Given the description of an element on the screen output the (x, y) to click on. 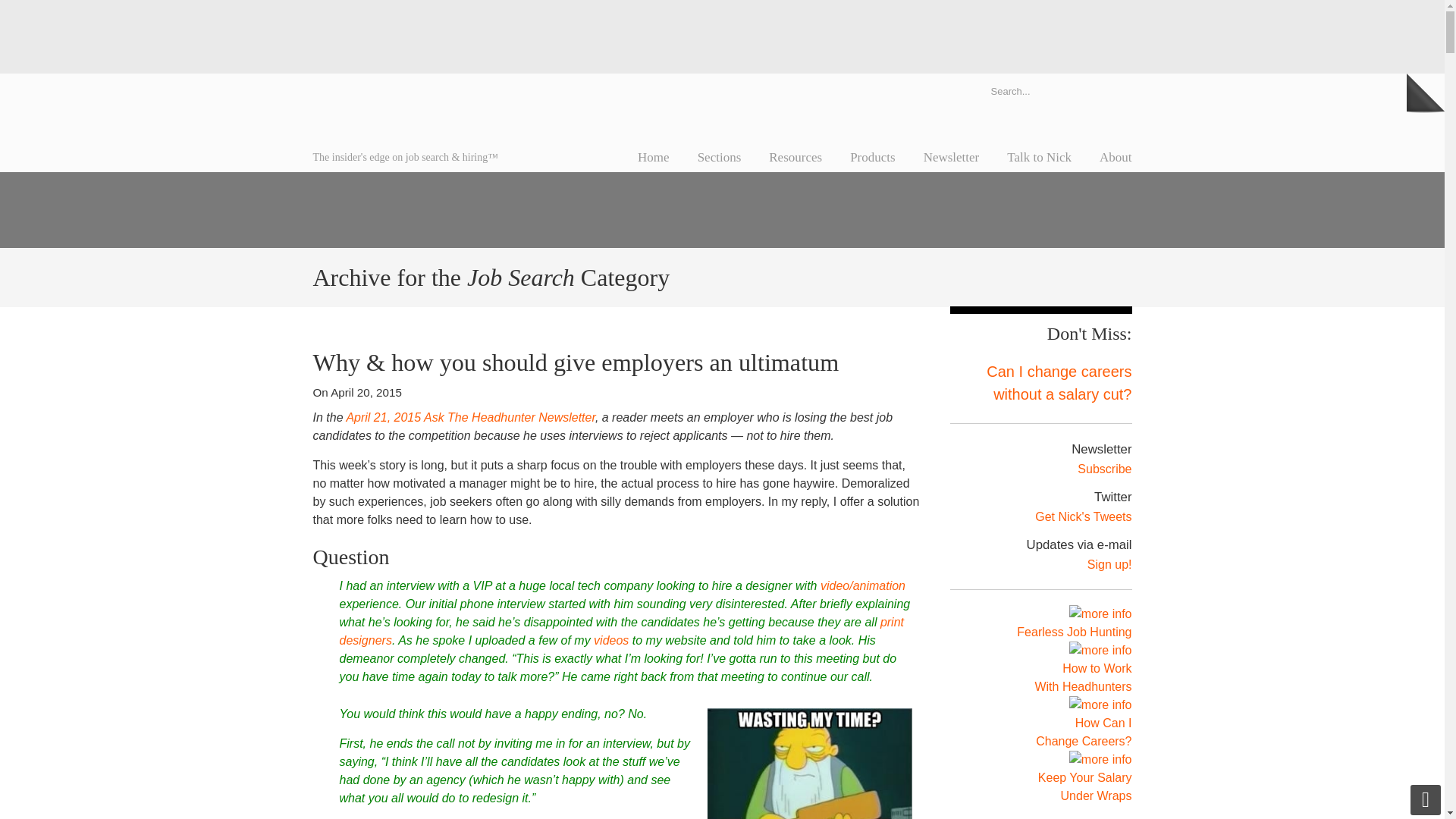
Search... (1039, 90)
Computer Animation (863, 585)
search (1115, 90)
About (1115, 157)
search (1115, 90)
print designers (621, 631)
videos (611, 640)
Newsletter (951, 157)
Sections (719, 157)
Talk to Nick (1038, 157)
